Given the description of an element on the screen output the (x, y) to click on. 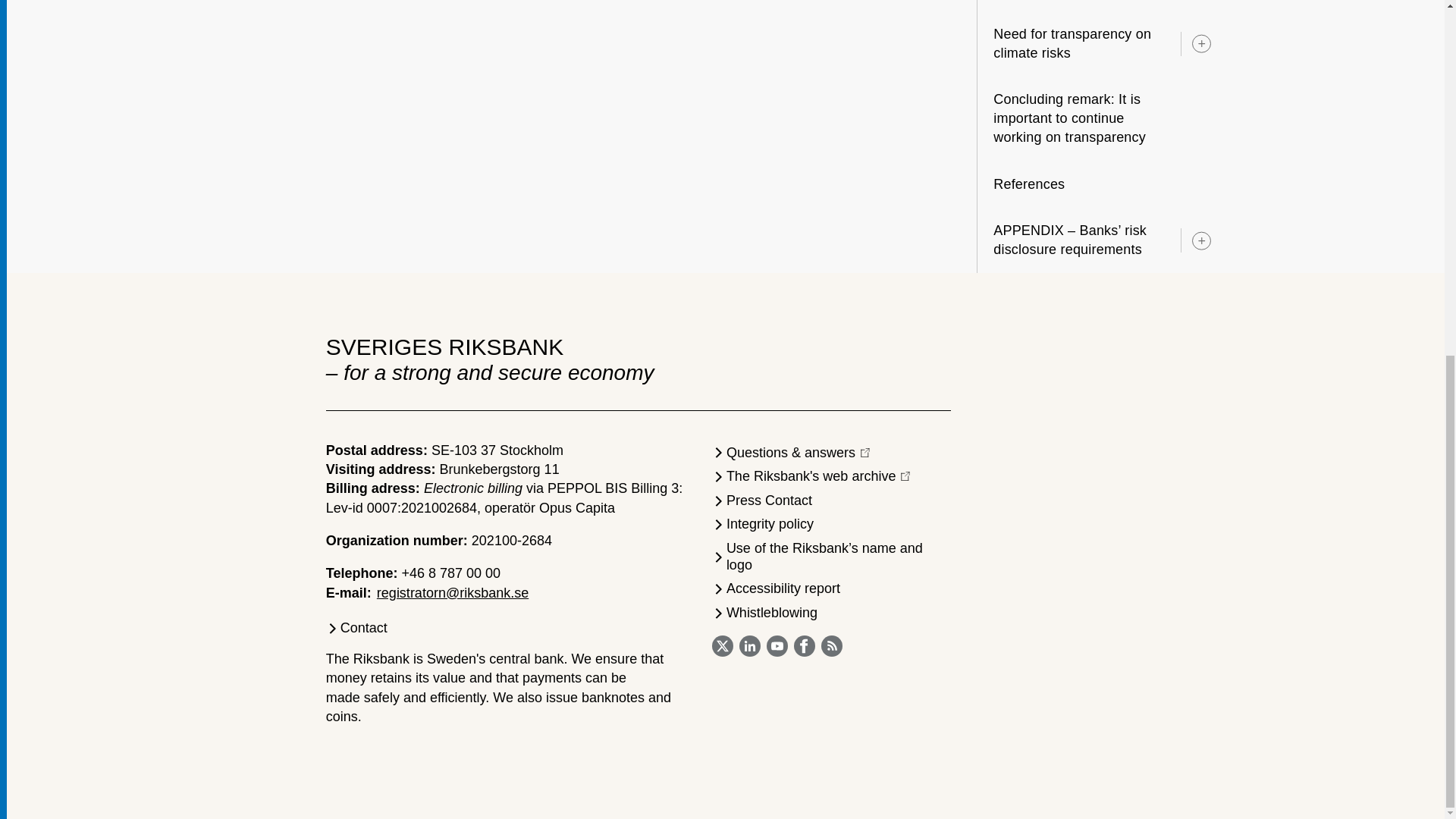
Need for transparency on climate risks (1077, 43)
Higher transparency requirements after the financial crisis (1077, 5)
References (1044, 184)
